Given the description of an element on the screen output the (x, y) to click on. 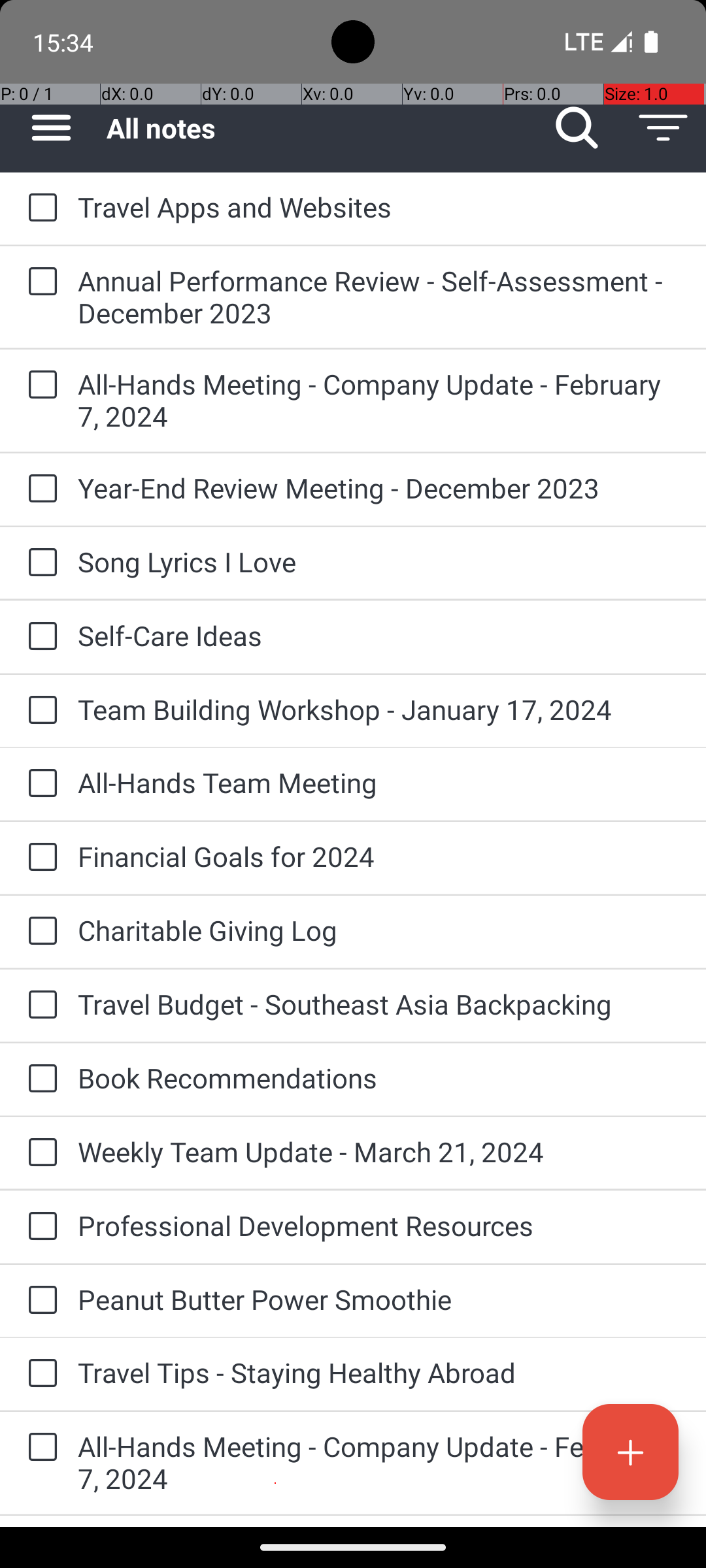
to-do: Travel Apps and Websites Element type: android.widget.CheckBox (38, 208)
Travel Apps and Websites Element type: android.widget.TextView (378, 206)
to-do: Annual Performance Review - Self-Assessment - December 2023 Element type: android.widget.CheckBox (38, 282)
Annual Performance Review - Self-Assessment - December 2023 Element type: android.widget.TextView (378, 296)
to-do: All-Hands Meeting - Company Update - February 7, 2024 Element type: android.widget.CheckBox (38, 385)
All-Hands Meeting - Company Update - February 7, 2024 Element type: android.widget.TextView (378, 399)
to-do: Year-End Review Meeting - December 2023 Element type: android.widget.CheckBox (38, 489)
Year-End Review Meeting - December 2023 Element type: android.widget.TextView (378, 487)
to-do: Song Lyrics I Love Element type: android.widget.CheckBox (38, 563)
Song Lyrics I Love Element type: android.widget.TextView (378, 561)
to-do: Self-Care Ideas Element type: android.widget.CheckBox (38, 637)
Self-Care Ideas Element type: android.widget.TextView (378, 634)
to-do: Team Building Workshop - January 17, 2024 Element type: android.widget.CheckBox (38, 710)
Team Building Workshop - January 17, 2024 Element type: android.widget.TextView (378, 708)
to-do: All-Hands Team Meeting Element type: android.widget.CheckBox (38, 783)
All-Hands Team Meeting Element type: android.widget.TextView (378, 781)
to-do: Financial Goals for 2024 Element type: android.widget.CheckBox (38, 857)
Financial Goals for 2024 Element type: android.widget.TextView (378, 855)
to-do: Charitable Giving Log Element type: android.widget.CheckBox (38, 931)
Charitable Giving Log Element type: android.widget.TextView (378, 929)
to-do: Travel Budget - Southeast Asia Backpacking Element type: android.widget.CheckBox (38, 1005)
Travel Budget - Southeast Asia Backpacking Element type: android.widget.TextView (378, 1003)
to-do: Book Recommendations Element type: android.widget.CheckBox (38, 1079)
Book Recommendations Element type: android.widget.TextView (378, 1077)
to-do: Weekly Team Update - March 21, 2024 Element type: android.widget.CheckBox (38, 1153)
Weekly Team Update - March 21, 2024 Element type: android.widget.TextView (378, 1151)
to-do: Professional Development Resources Element type: android.widget.CheckBox (38, 1227)
Professional Development Resources Element type: android.widget.TextView (378, 1224)
to-do: Peanut Butter Power Smoothie Element type: android.widget.CheckBox (38, 1300)
Peanut Butter Power Smoothie Element type: android.widget.TextView (378, 1298)
to-do: Travel Tips - Staying Healthy Abroad Element type: android.widget.CheckBox (38, 1373)
Travel Tips - Staying Healthy Abroad Element type: android.widget.TextView (378, 1371)
to-do: Banana Bread Element type: android.widget.CheckBox (38, 1520)
